Given the description of an element on the screen output the (x, y) to click on. 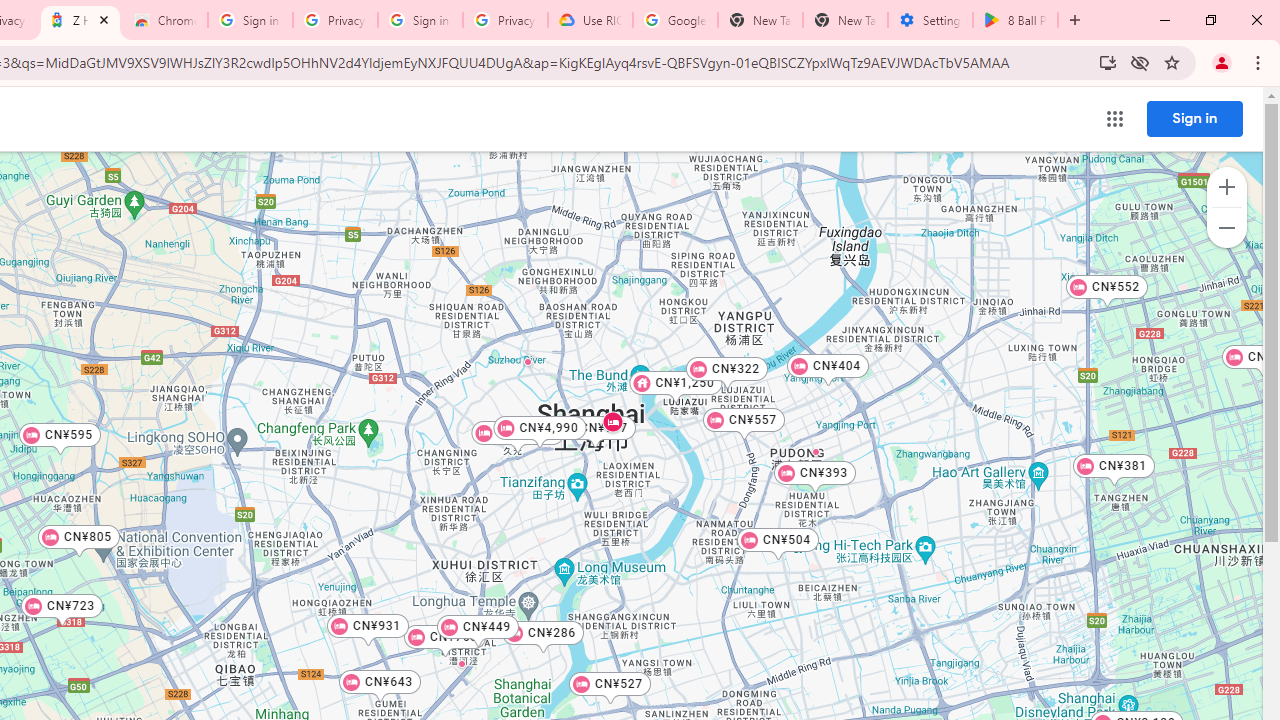
New Tab (845, 20)
Sign in - Google Accounts (420, 20)
Parkline Century Park Hotel Shanghai (815, 451)
Install Trips all in one place (1107, 62)
Junting Hotel (460, 663)
